Given the description of an element on the screen output the (x, y) to click on. 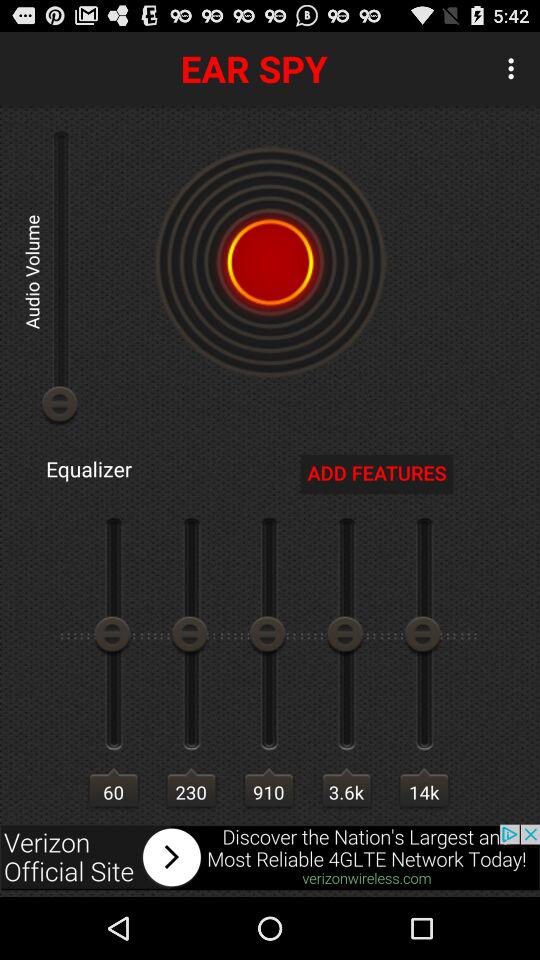
play option (269, 262)
